Given the description of an element on the screen output the (x, y) to click on. 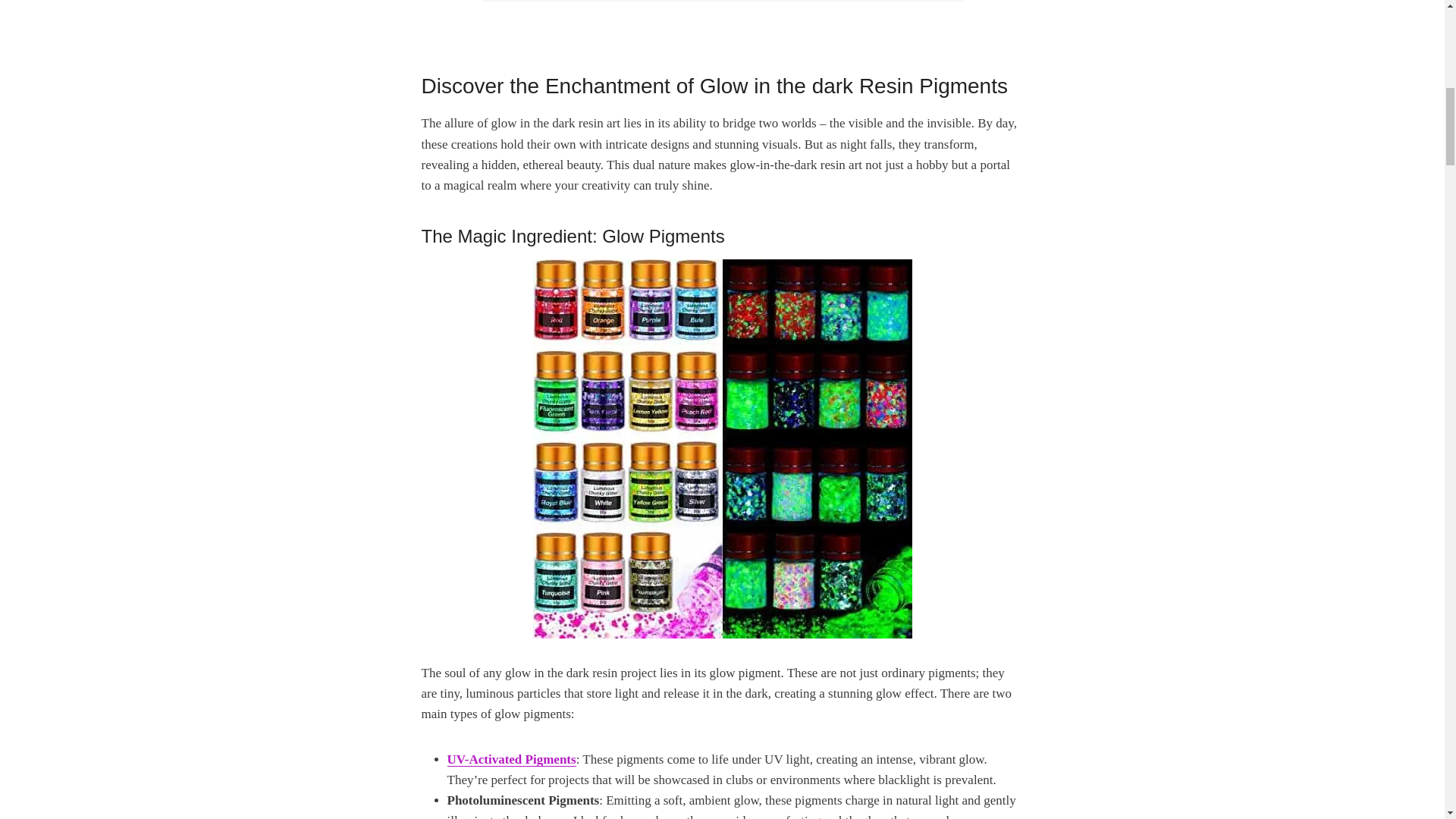
UV-Activated Pigments (511, 759)
